Given the description of an element on the screen output the (x, y) to click on. 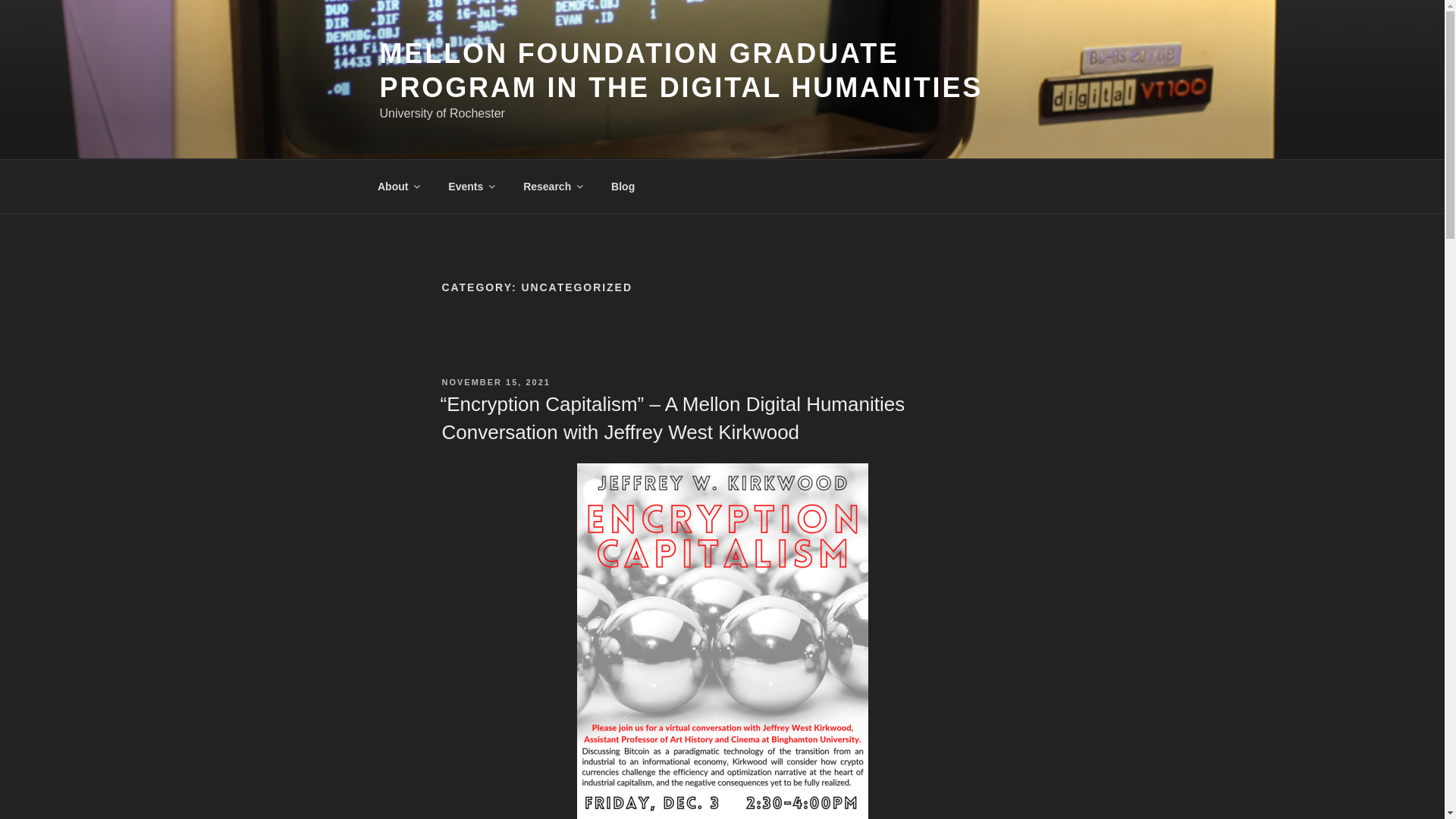
NOVEMBER 15, 2021 (495, 381)
About (397, 186)
MELLON FOUNDATION GRADUATE PROGRAM IN THE DIGITAL HUMANITIES (680, 70)
Research (553, 186)
Blog (622, 186)
Events (470, 186)
